Given the description of an element on the screen output the (x, y) to click on. 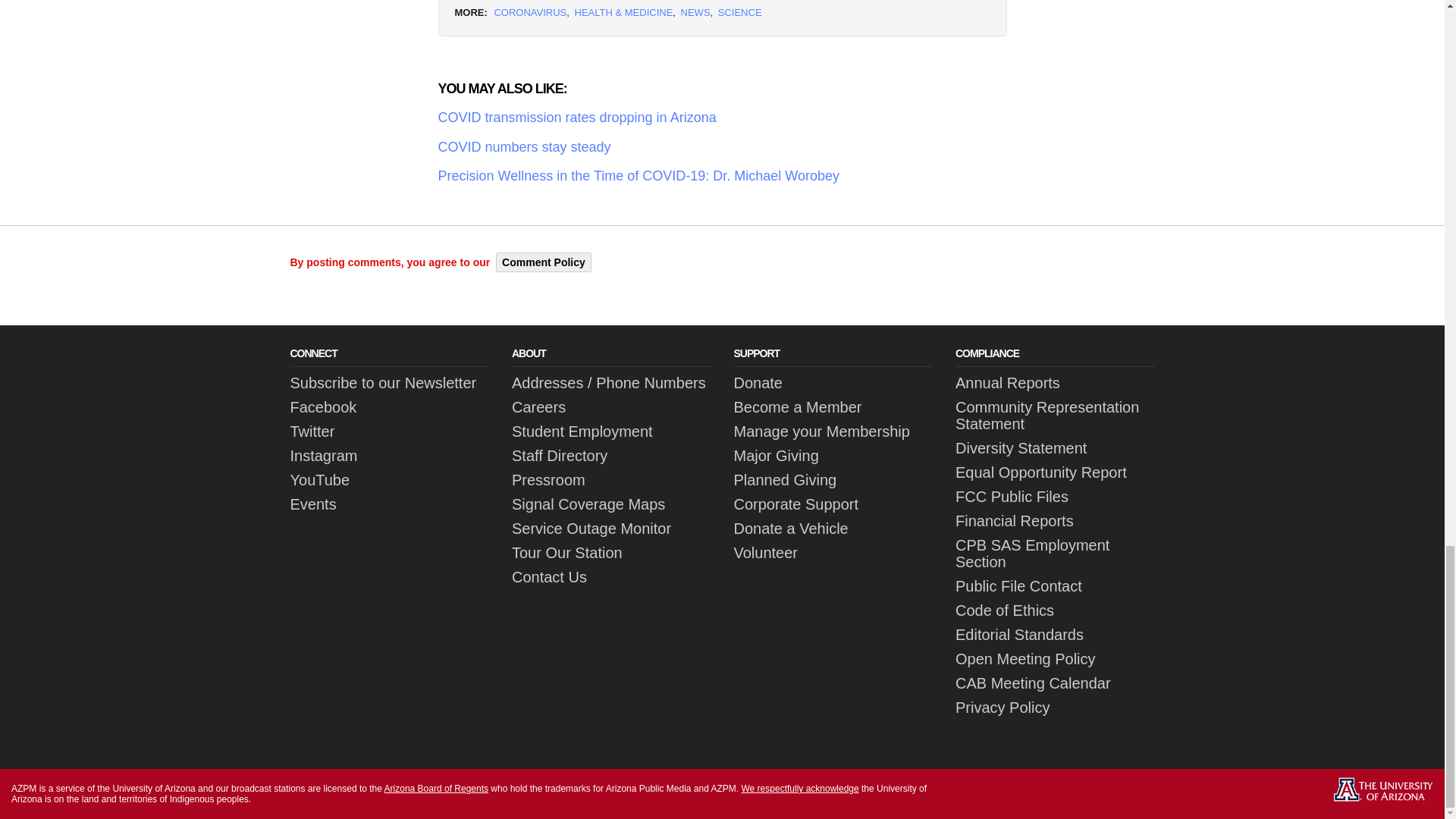
COVID numbers stay steady (722, 147)
COVID transmission rates dropping in Arizona (722, 117)
